Given the description of an element on the screen output the (x, y) to click on. 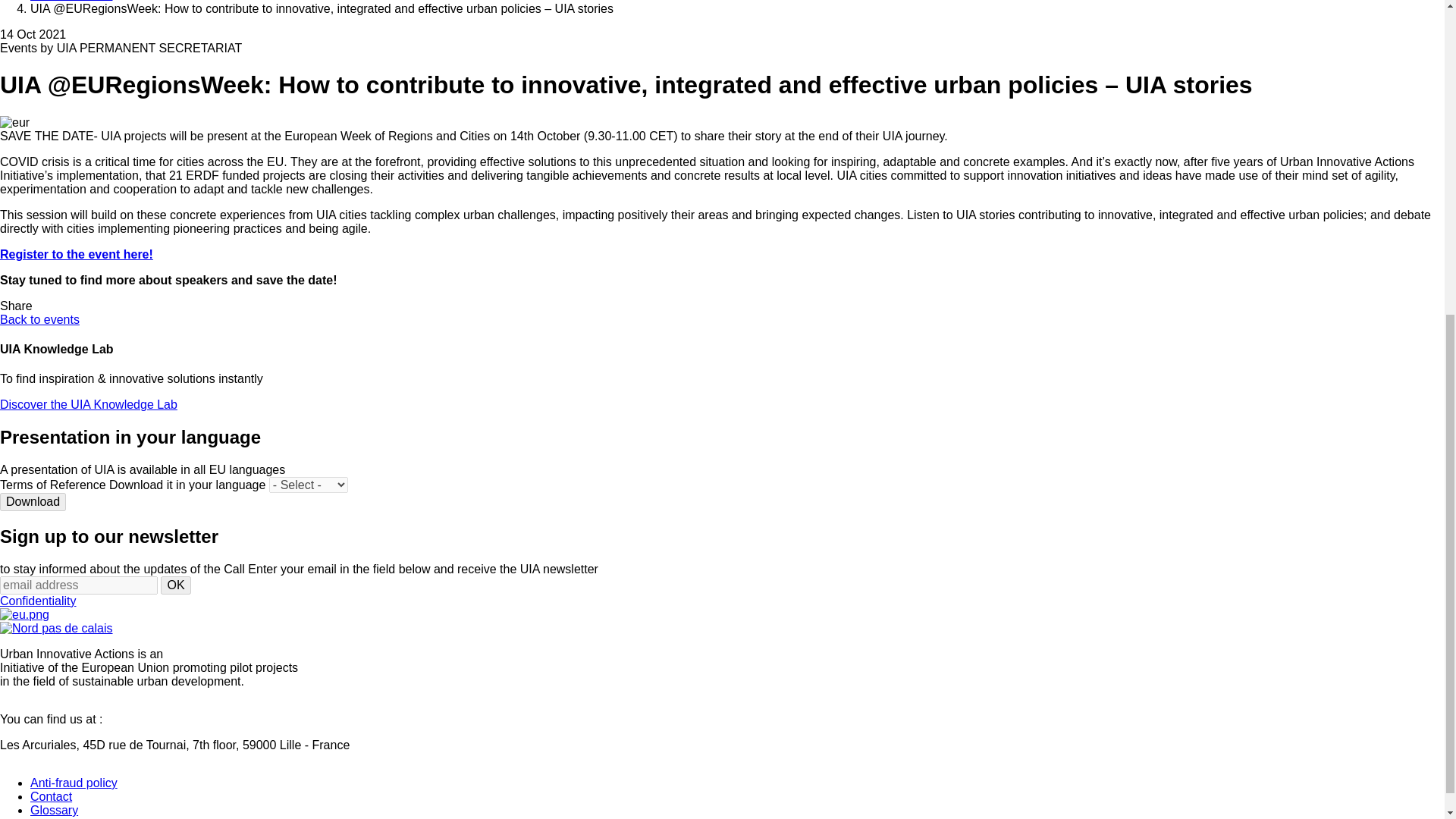
Back to events (40, 318)
Glossary (54, 809)
Download (32, 502)
Register to the event here! (76, 254)
Confidentiality (38, 600)
Download (32, 502)
Discover the UIA Knowledge Lab (88, 404)
OK (175, 585)
OK (175, 585)
Anti-fraud policy (73, 782)
